Given the description of an element on the screen output the (x, y) to click on. 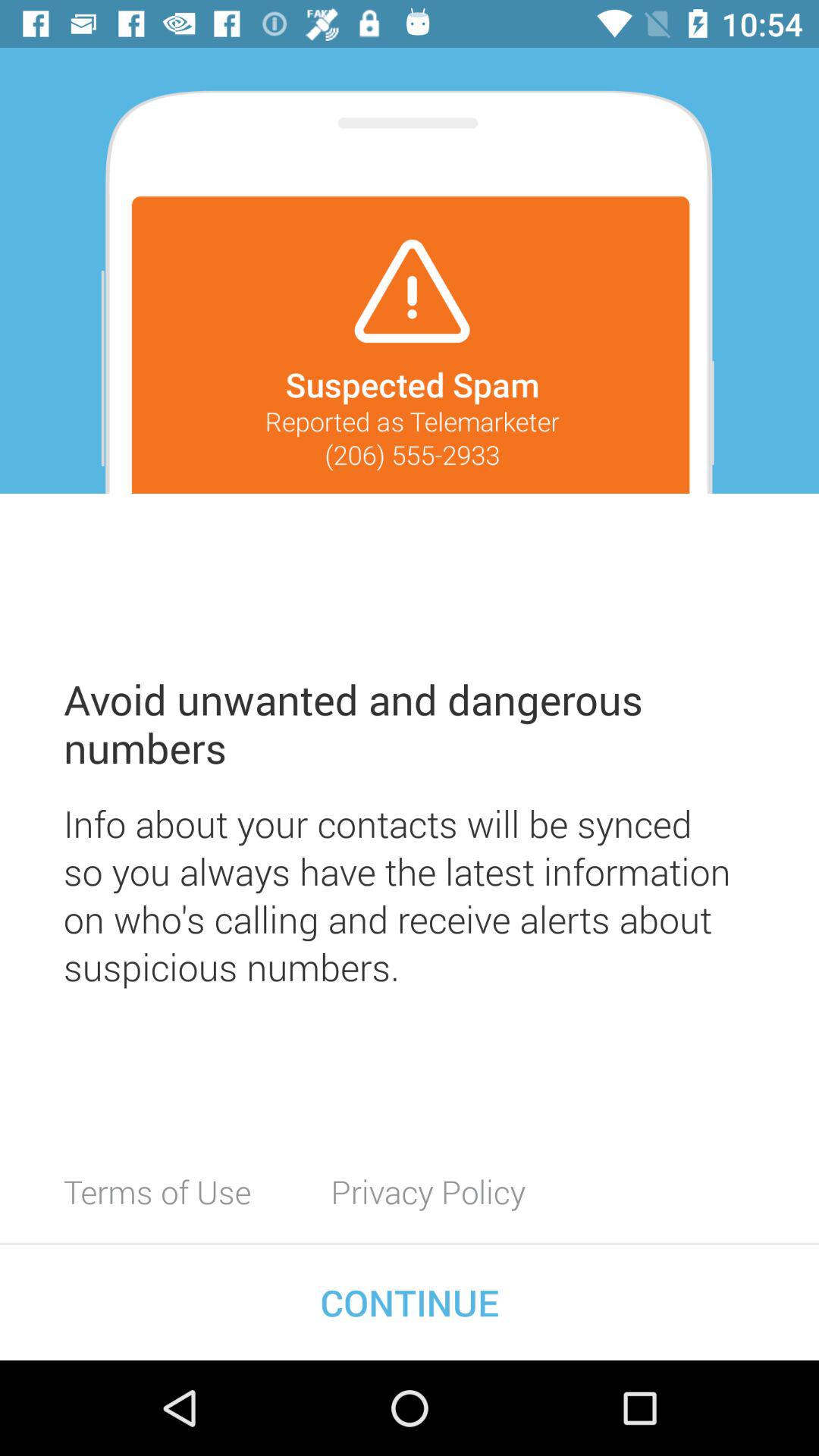
click the item below the info about your item (428, 1191)
